Given the description of an element on the screen output the (x, y) to click on. 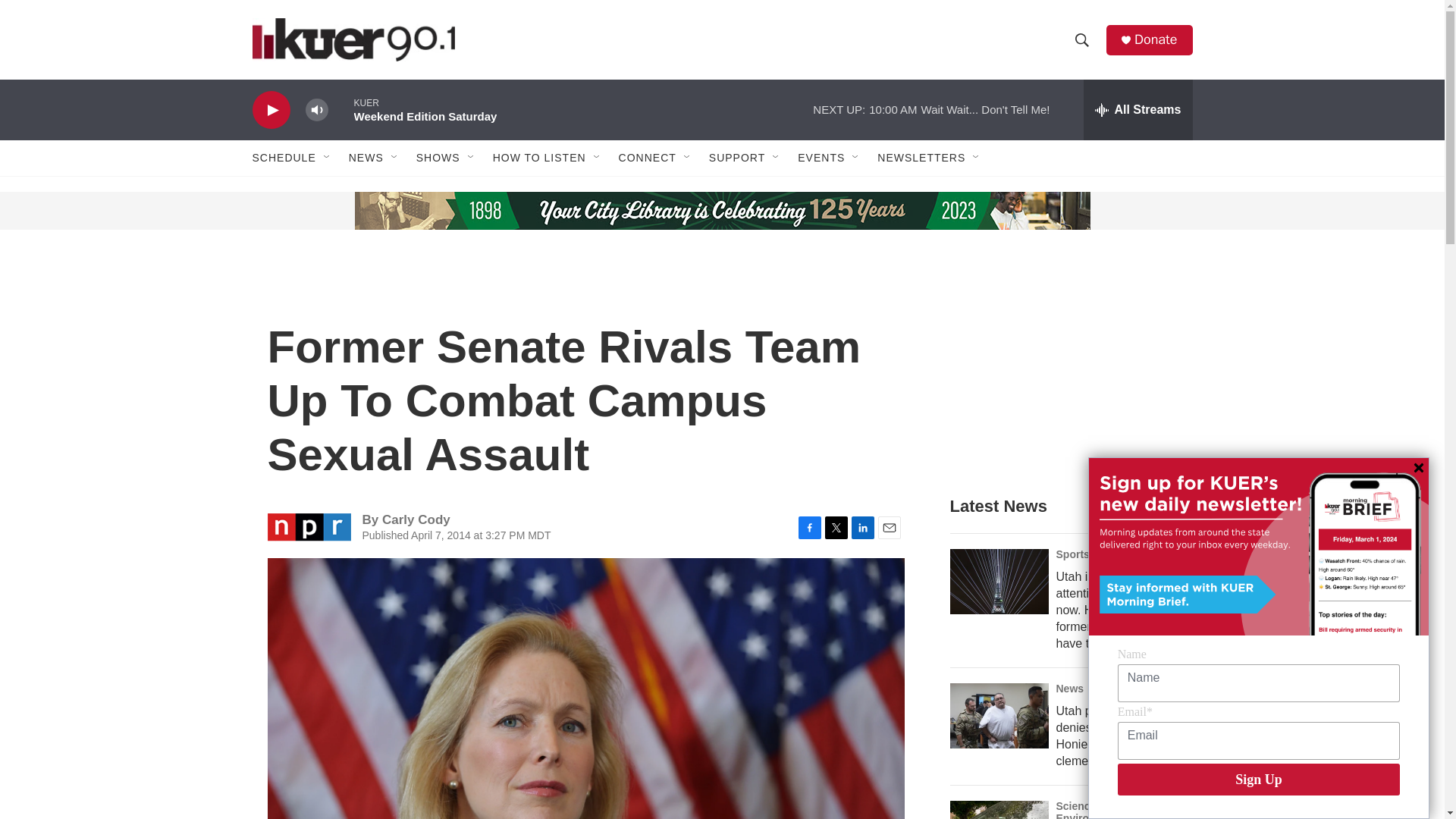
3rd party ad content (1062, 370)
Sign Up (1259, 779)
3rd party ad content (367, 210)
Close (1418, 468)
